Given the description of an element on the screen output the (x, y) to click on. 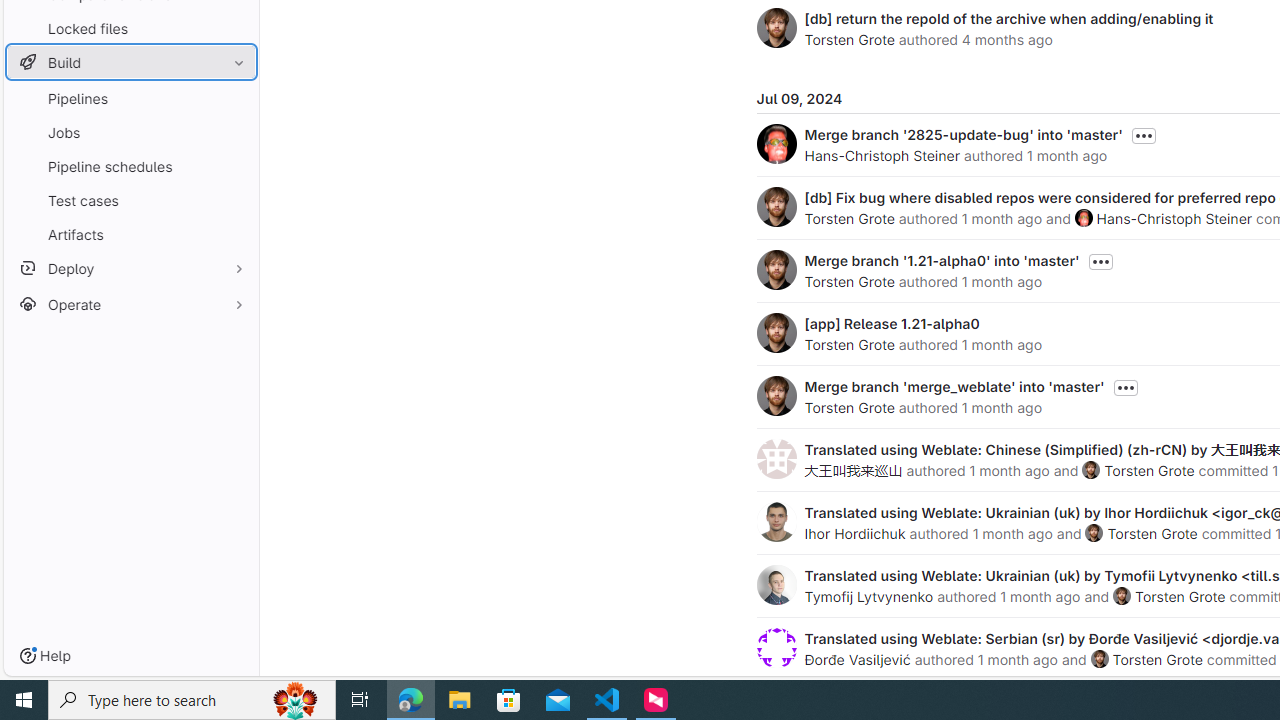
Pipeline schedules (130, 165)
Locked files (130, 28)
Class: s16 gl-icon gl-button-icon  (1125, 388)
Pipeline schedules (130, 165)
